Given the description of an element on the screen output the (x, y) to click on. 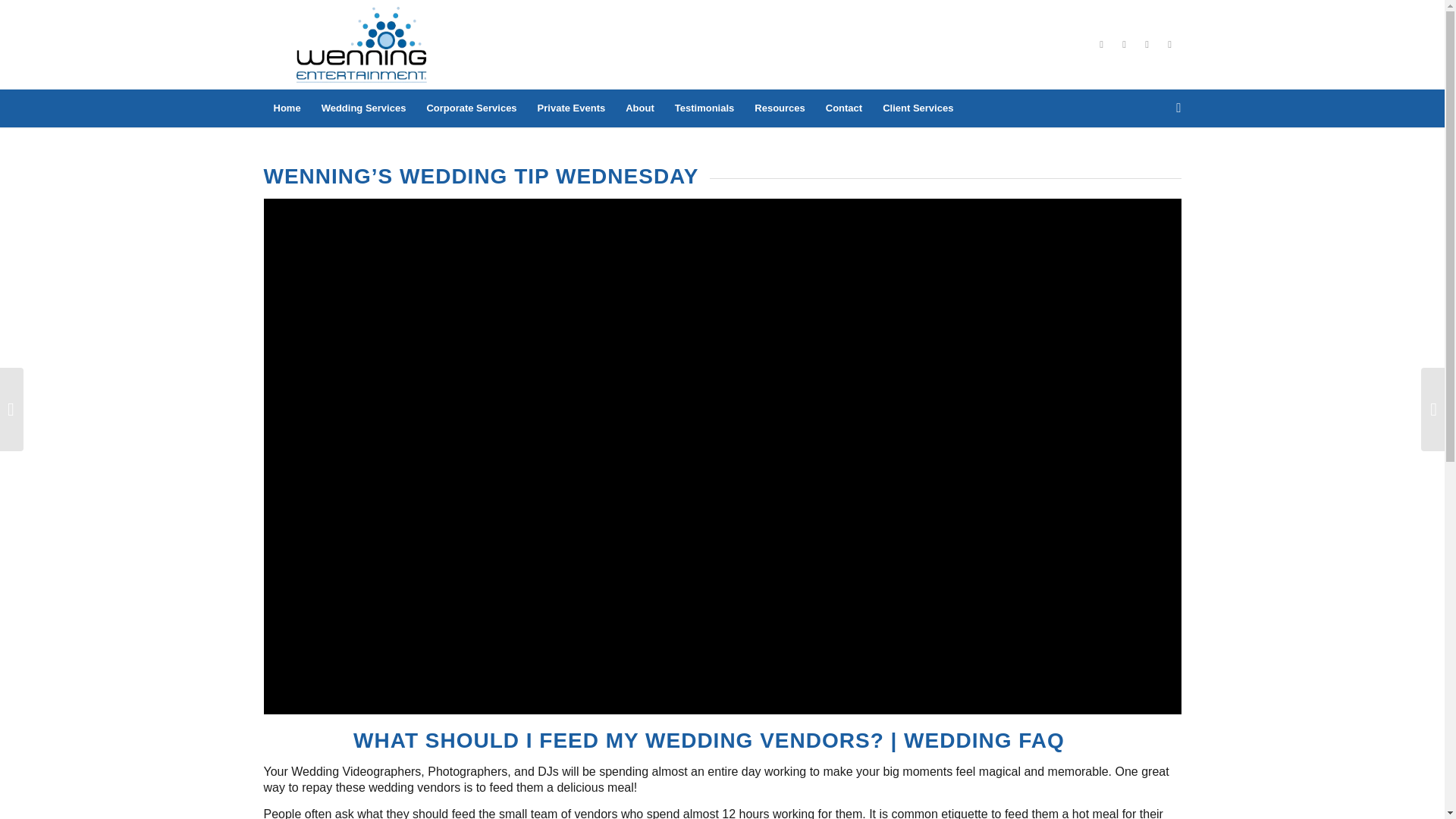
Corporate Services (469, 108)
Resources (778, 108)
About (638, 108)
Wedding Services (363, 108)
Private Events (571, 108)
Instagram (1169, 44)
Contact (843, 108)
Testimonials (703, 108)
Home (287, 108)
Youtube (1146, 44)
Facebook (1101, 44)
LinkedIn (1124, 44)
